Given the description of an element on the screen output the (x, y) to click on. 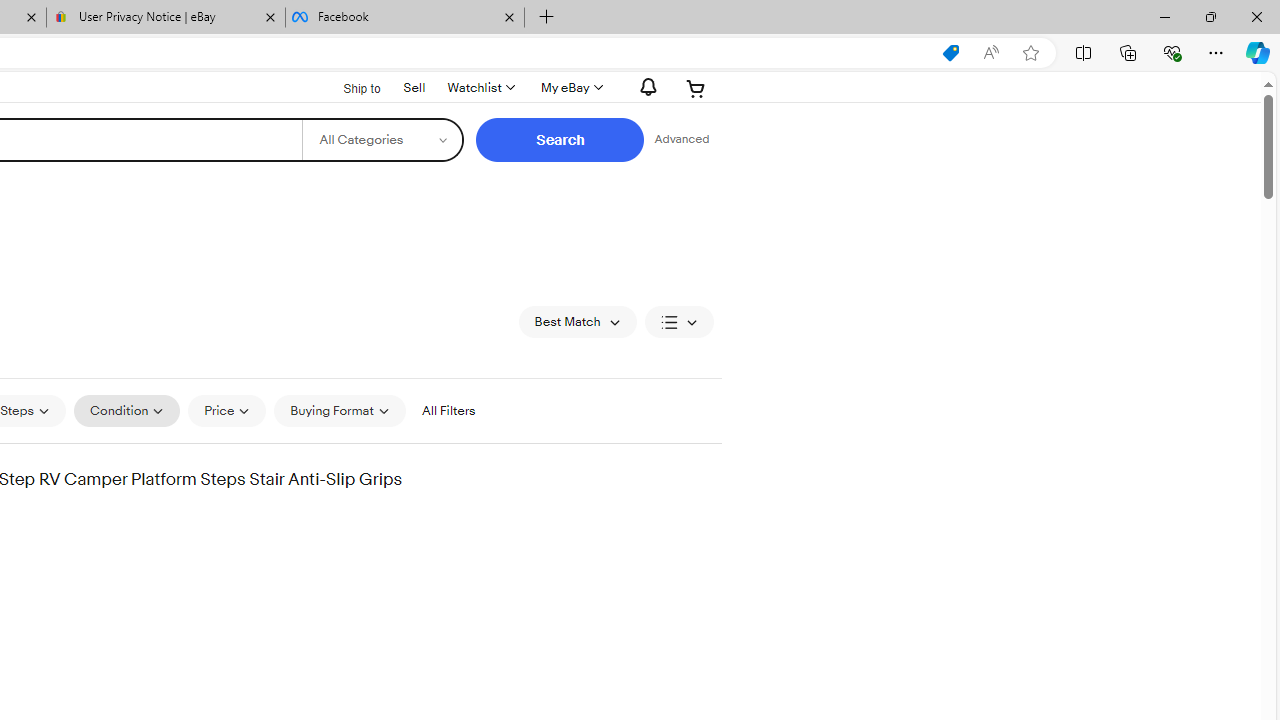
Notifications (642, 87)
Sort: Best Match (577, 321)
Condition (126, 410)
My eBay (569, 88)
My eBayExpand My eBay (569, 88)
All Filters (448, 410)
Select a category for search (382, 139)
Watchlist (479, 88)
This site has coupons! Shopping in Microsoft Edge (950, 53)
Buying Format (339, 410)
Buying Format (339, 410)
WatchlistExpand Watch List (479, 88)
